Given the description of an element on the screen output the (x, y) to click on. 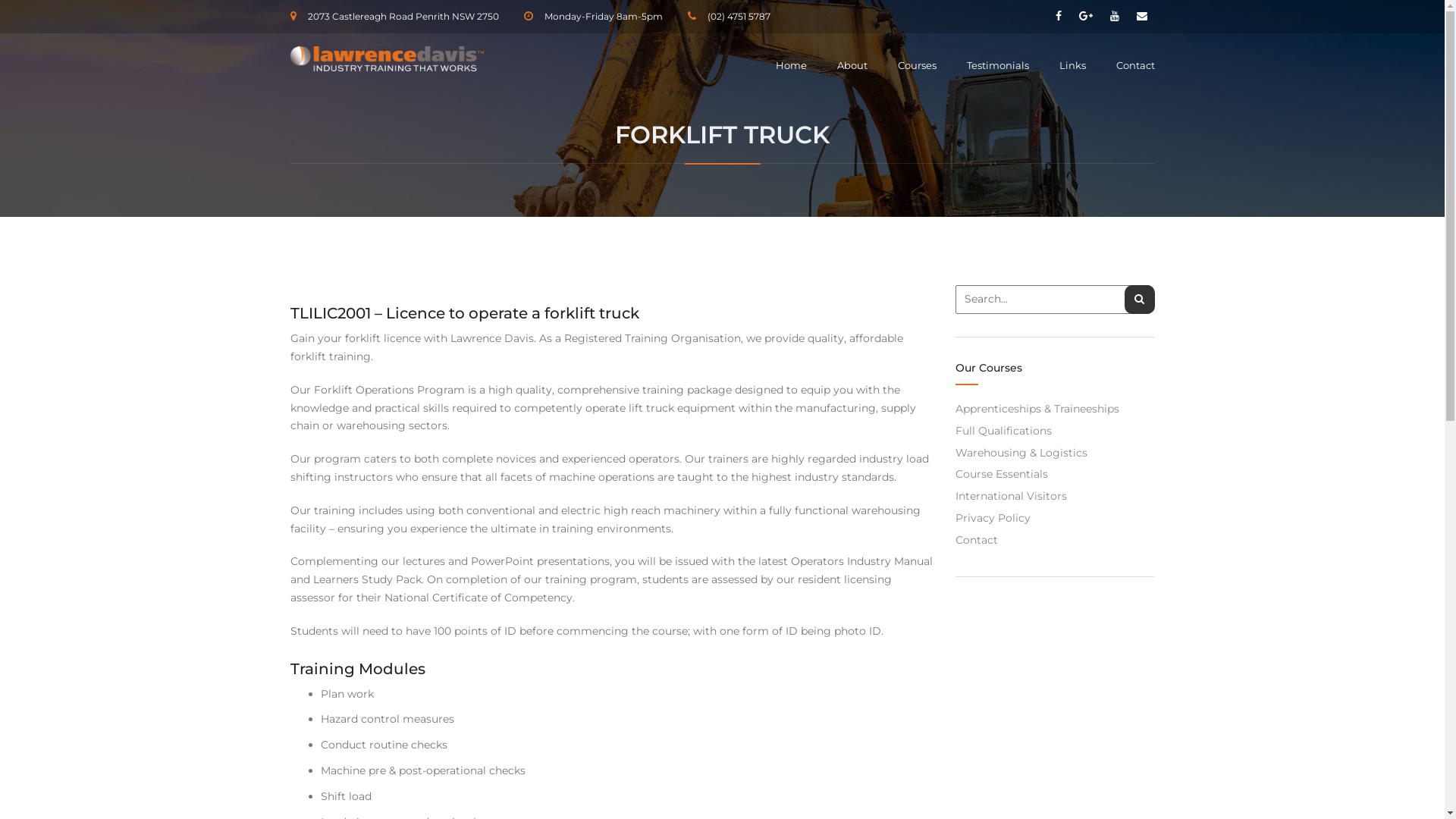
Home Element type: text (790, 65)
Privacy Policy Element type: text (992, 517)
Full Qualifications Element type: text (1003, 430)
About Element type: text (852, 65)
International Visitors Element type: text (1010, 495)
Course Essentials Element type: text (1001, 473)
Links Element type: text (1071, 65)
Courses Element type: text (916, 65)
Contact Element type: text (1127, 65)
Apprenticeships & Traineeships Element type: text (1037, 408)
Contact Element type: text (976, 539)
Warehousing & Logistics Element type: text (1021, 452)
Testimonials Element type: text (996, 65)
